Given the description of an element on the screen output the (x, y) to click on. 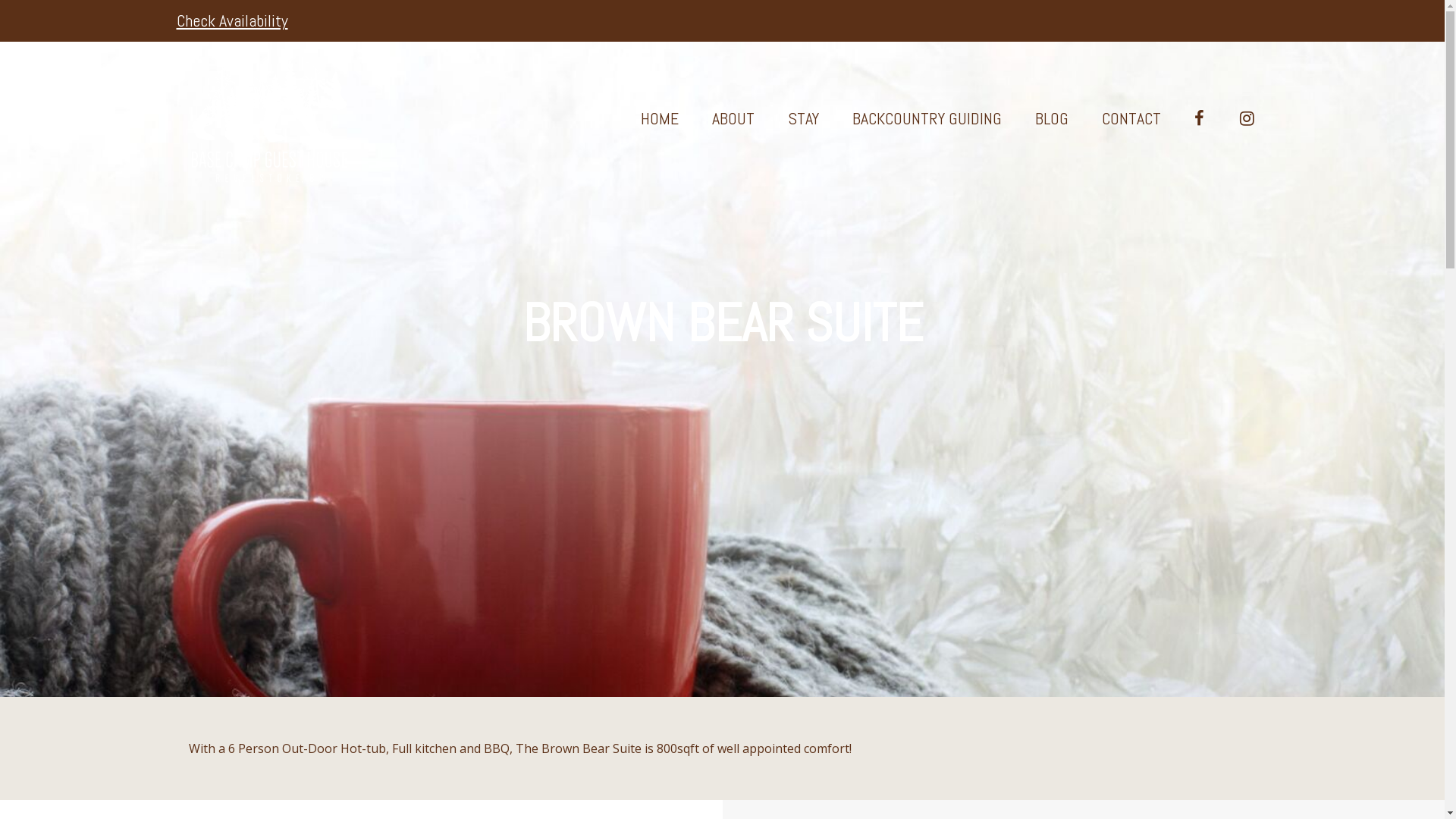
BLOG Element type: text (1050, 119)
CONTACT Element type: text (1130, 119)
  Element type: text (1244, 119)
BACKCOUNTRY GUIDING Element type: text (926, 119)
Check Availability Element type: text (231, 20)
  Element type: text (1199, 119)
STAY Element type: text (802, 119)
HOME Element type: text (658, 119)
ABOUT Element type: text (732, 119)
